Given the description of an element on the screen output the (x, y) to click on. 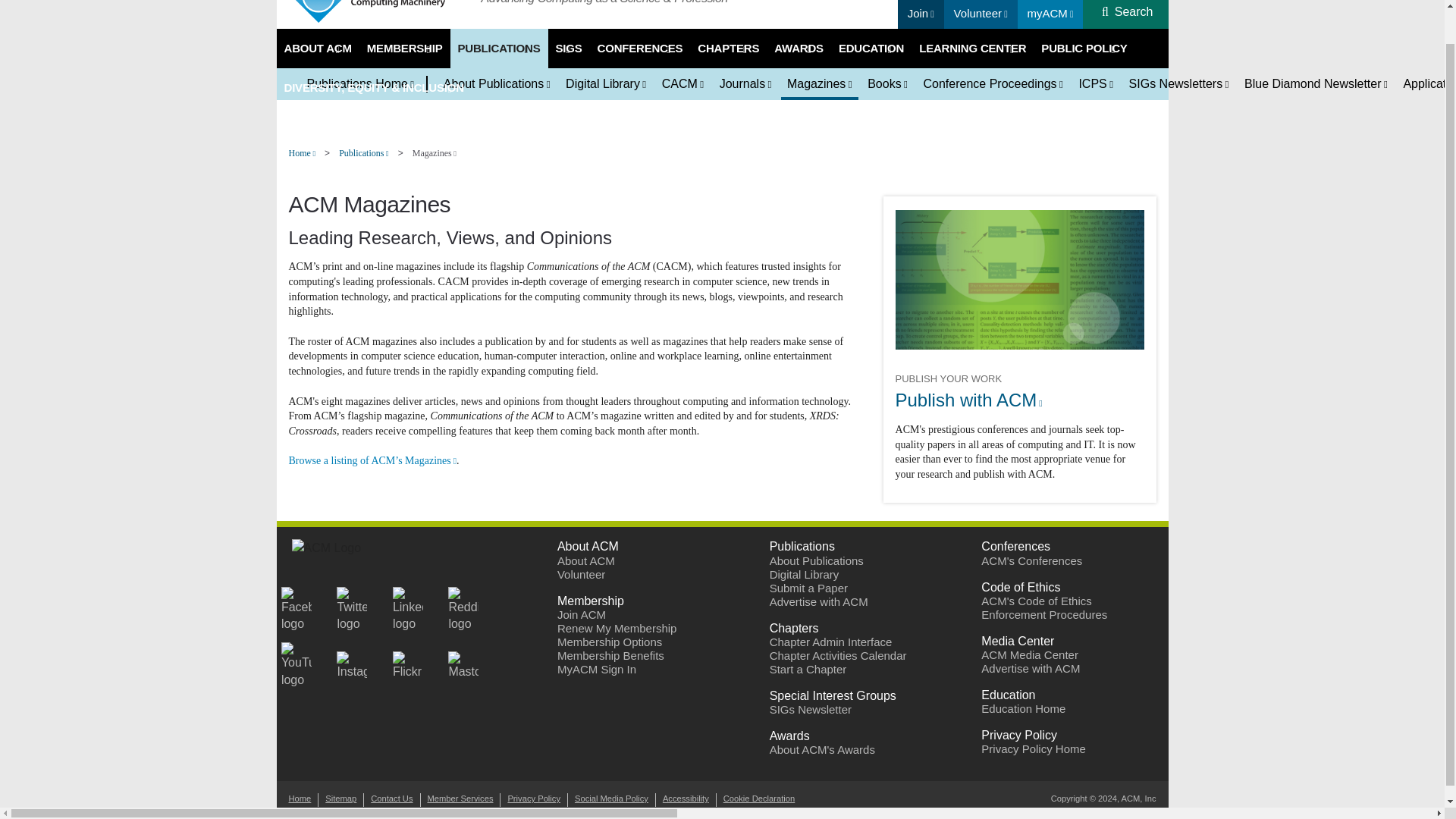
myACM (1049, 12)
Volunteer (980, 12)
Search (1134, 11)
Search (1134, 11)
Home (378, 12)
Join (920, 12)
ABOUT ACM (317, 47)
